Given the description of an element on the screen output the (x, y) to click on. 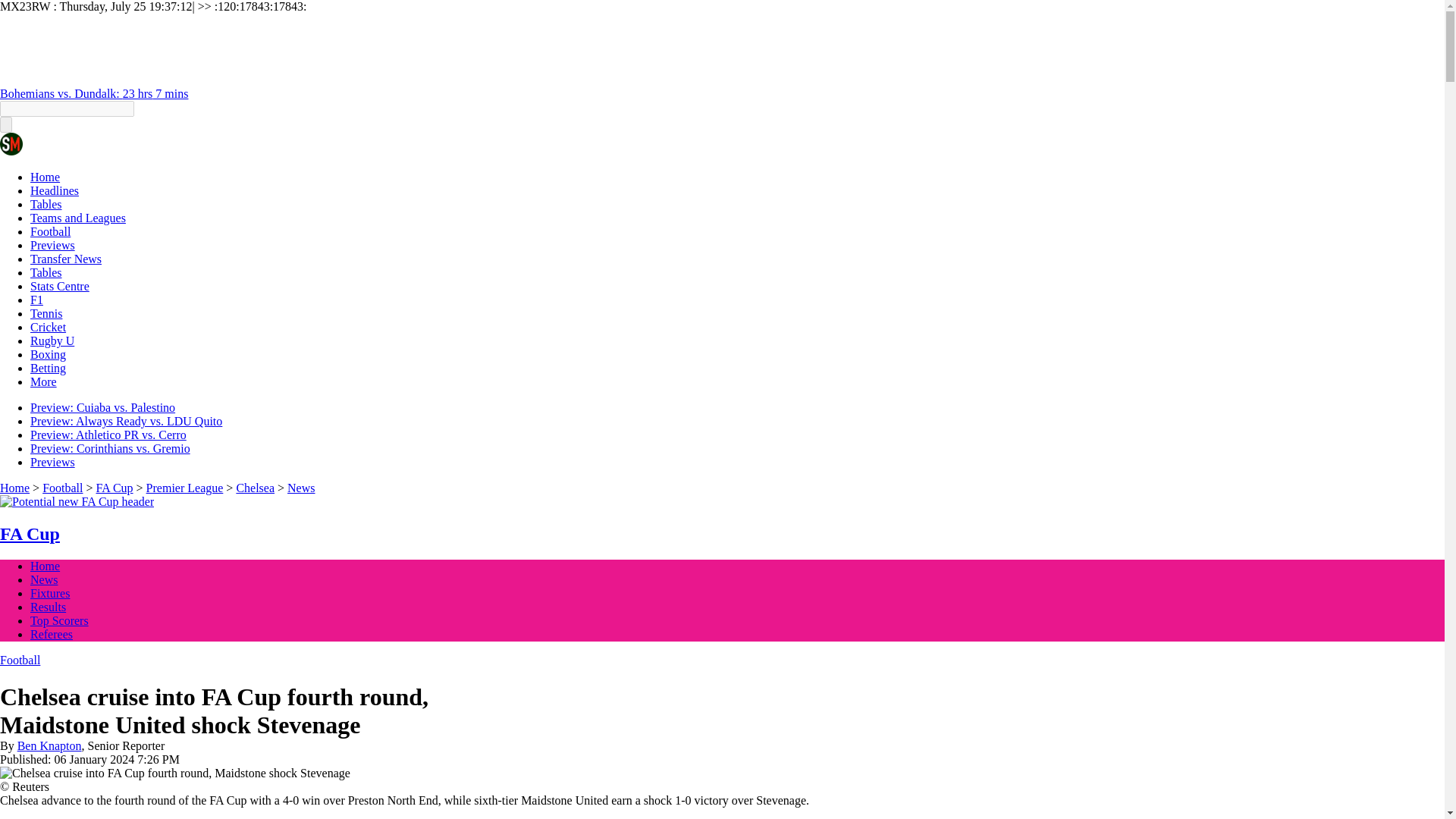
Premier League (185, 487)
Teams and Leagues (77, 217)
Boxing (47, 354)
Fixtures (49, 593)
Chelsea (255, 487)
Football (49, 231)
Rugby U (52, 340)
Tables (46, 272)
News (300, 487)
Preview: Athletico PR vs. Cerro (108, 434)
Tennis (46, 313)
Preview: Always Ready vs. LDU Quito (126, 420)
More (43, 381)
Bohemians vs. Dundalk: 23 hrs 7 mins (93, 92)
Home (44, 176)
